Given the description of an element on the screen output the (x, y) to click on. 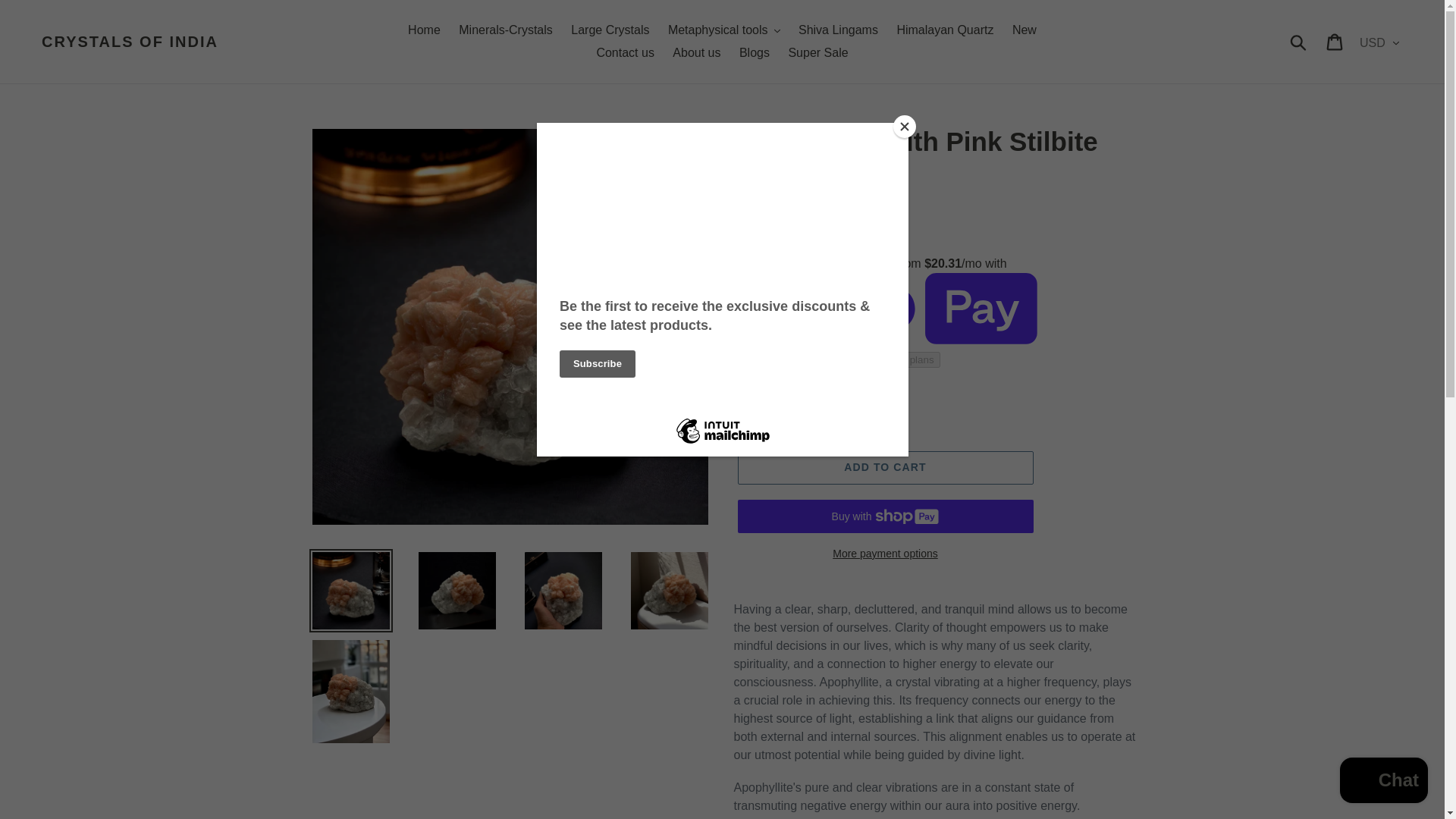
Blogs (754, 52)
Shiva Lingams (837, 29)
Home (424, 29)
Cart (1335, 41)
Large Crystals (609, 29)
Minerals-Crystals (505, 29)
Contact us (624, 52)
Submit (1299, 41)
Shopify online store chat (1383, 781)
About us (696, 52)
